Given the description of an element on the screen output the (x, y) to click on. 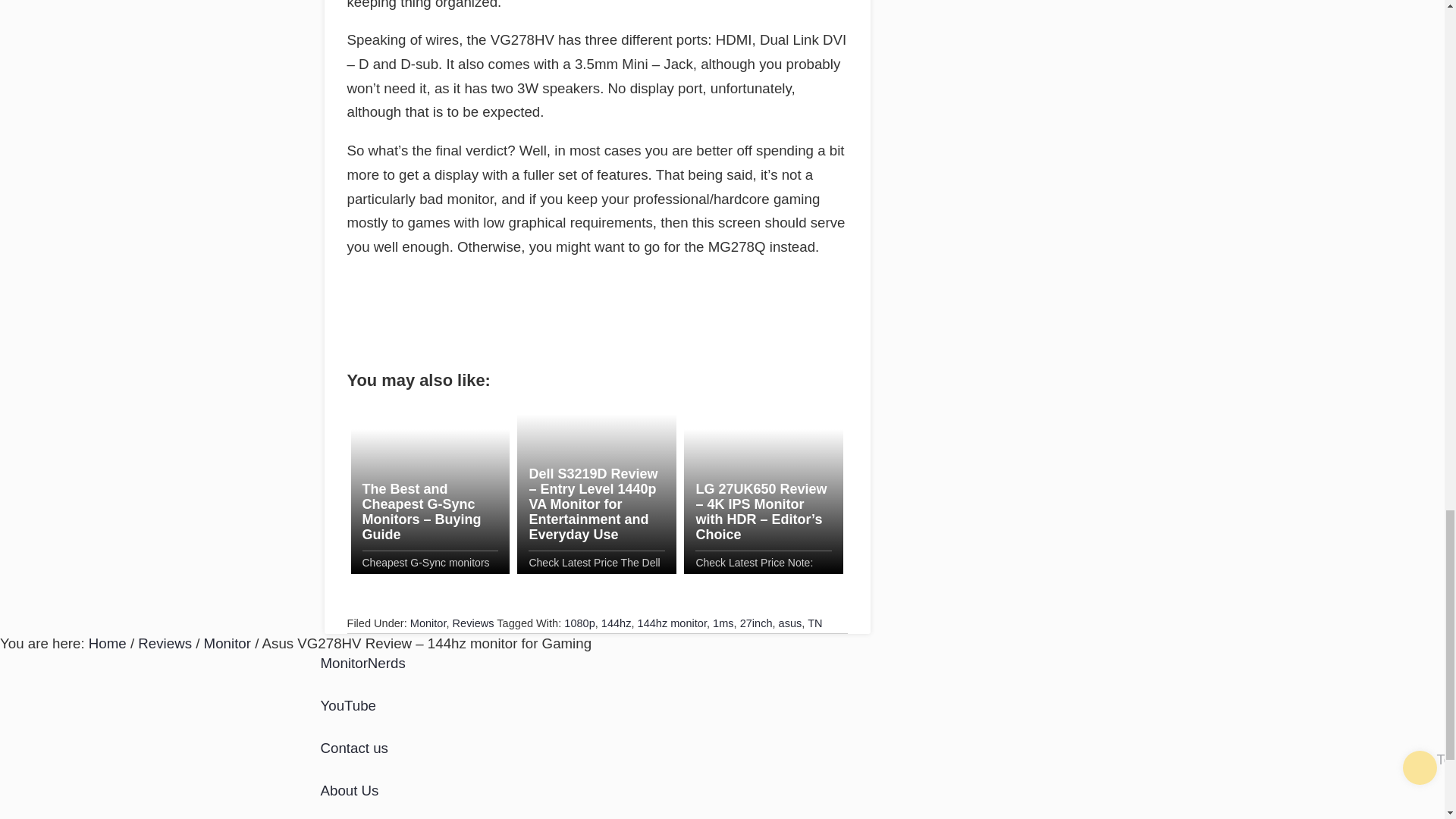
1080p (579, 623)
About Us (349, 790)
YouTube (347, 705)
Reviews (165, 643)
27inch (756, 623)
144hz (616, 623)
Home (107, 643)
Monitor (428, 623)
1ms (723, 623)
TN (815, 623)
144hz monitor (671, 623)
Monitor (226, 643)
Contact us (353, 747)
MonitorNerds (362, 662)
asus (790, 623)
